Given the description of an element on the screen output the (x, y) to click on. 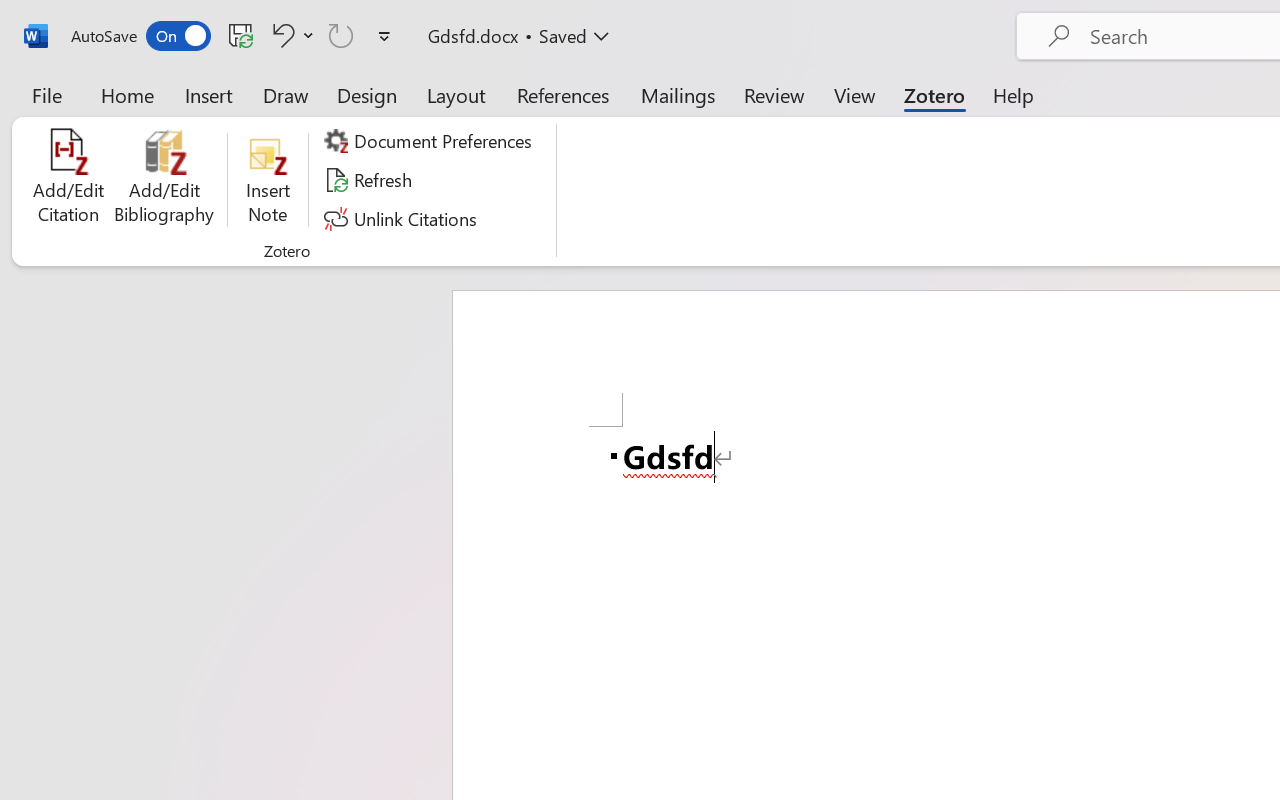
Can't Repeat (341, 35)
Undo <ApplyStyleToDoc>b__0 (280, 35)
Unlink Citations (403, 218)
Add/Edit Bibliography (164, 179)
